Given the description of an element on the screen output the (x, y) to click on. 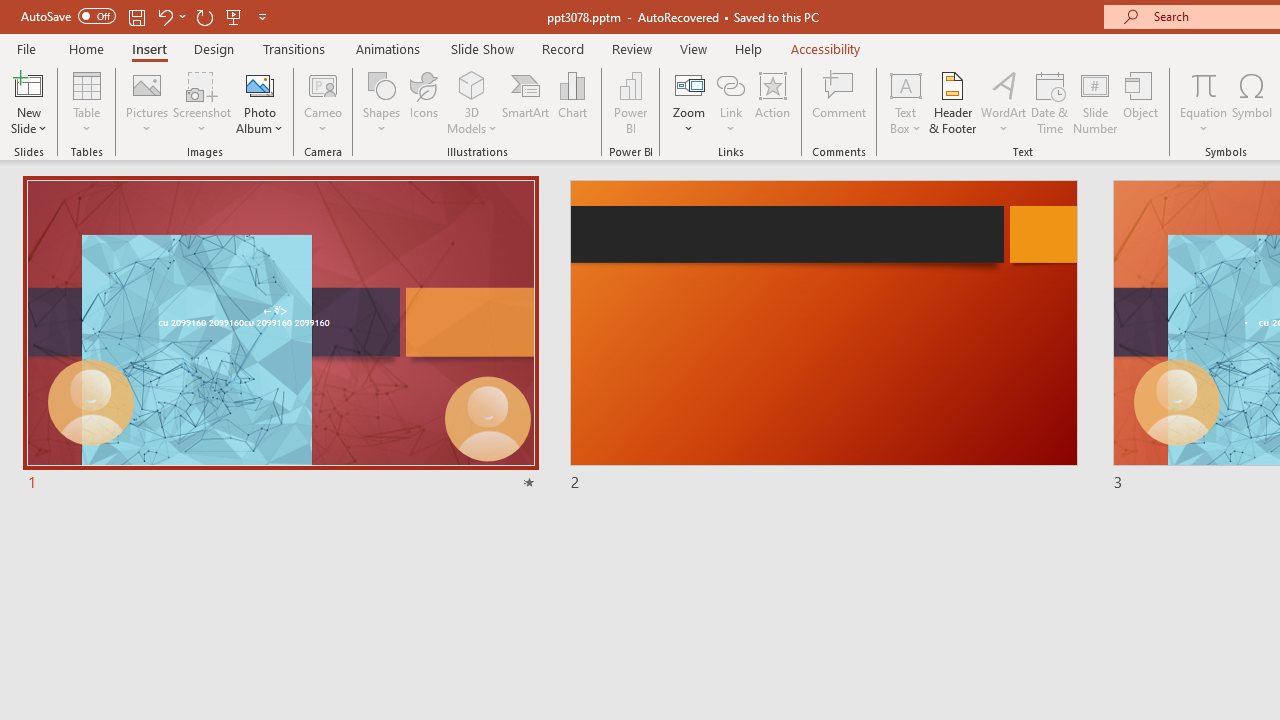
WordArt (1004, 102)
Date & Time... (1050, 102)
Pictures (147, 102)
Link (731, 102)
Equation (1203, 102)
3D Models (472, 84)
